Given the description of an element on the screen output the (x, y) to click on. 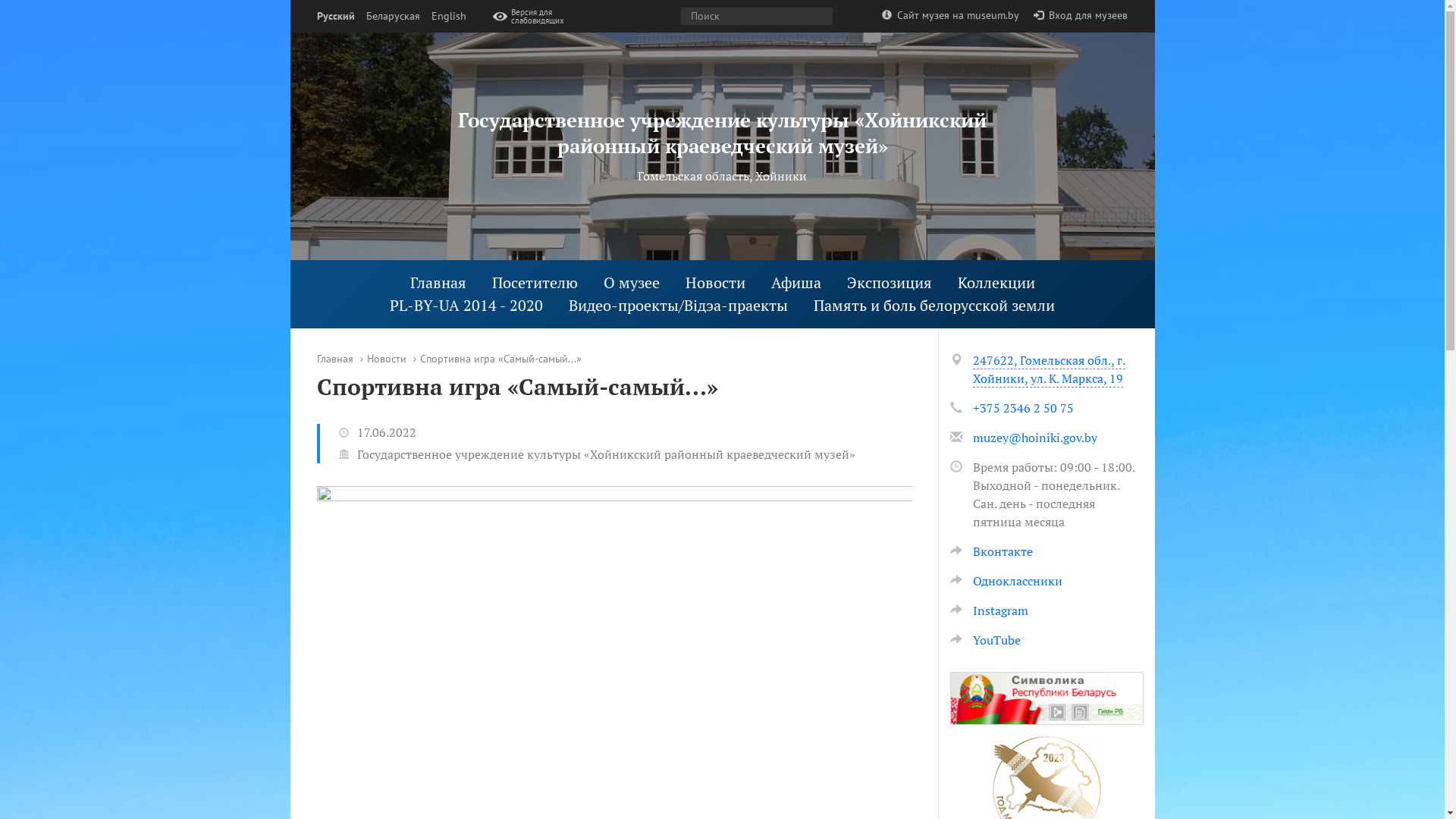
YouTube Element type: text (984, 639)
English Element type: text (447, 16)
muzey@hoiniki.gov.by Element type: text (1034, 437)
+375 2346 2 50 75 Element type: text (1022, 407)
Instagram Element type: text (988, 610)
PL-BY-UA 2014 - 2020 Element type: text (465, 304)
